Given the description of an element on the screen output the (x, y) to click on. 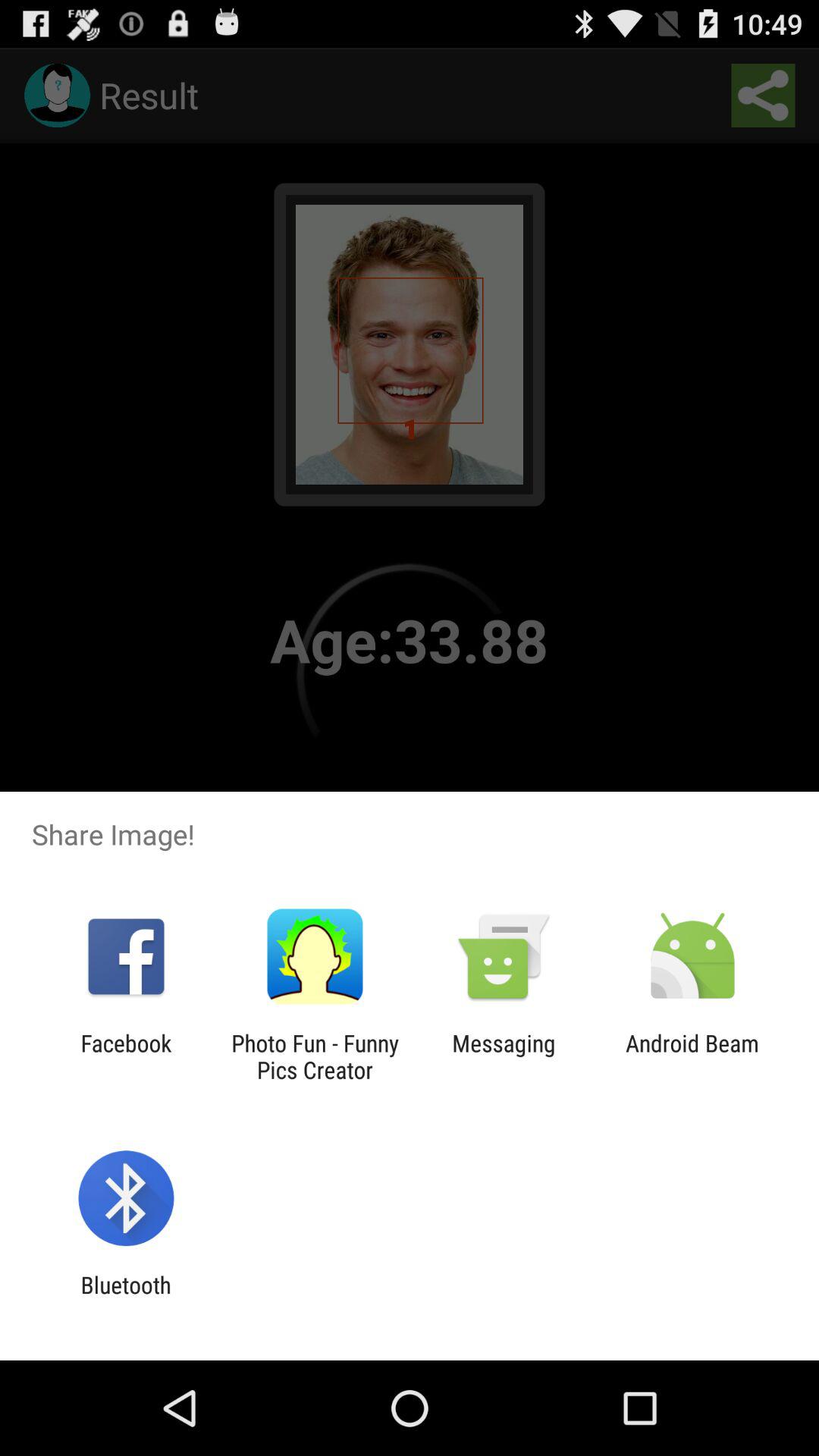
turn on the icon next to photo fun funny icon (125, 1056)
